Given the description of an element on the screen output the (x, y) to click on. 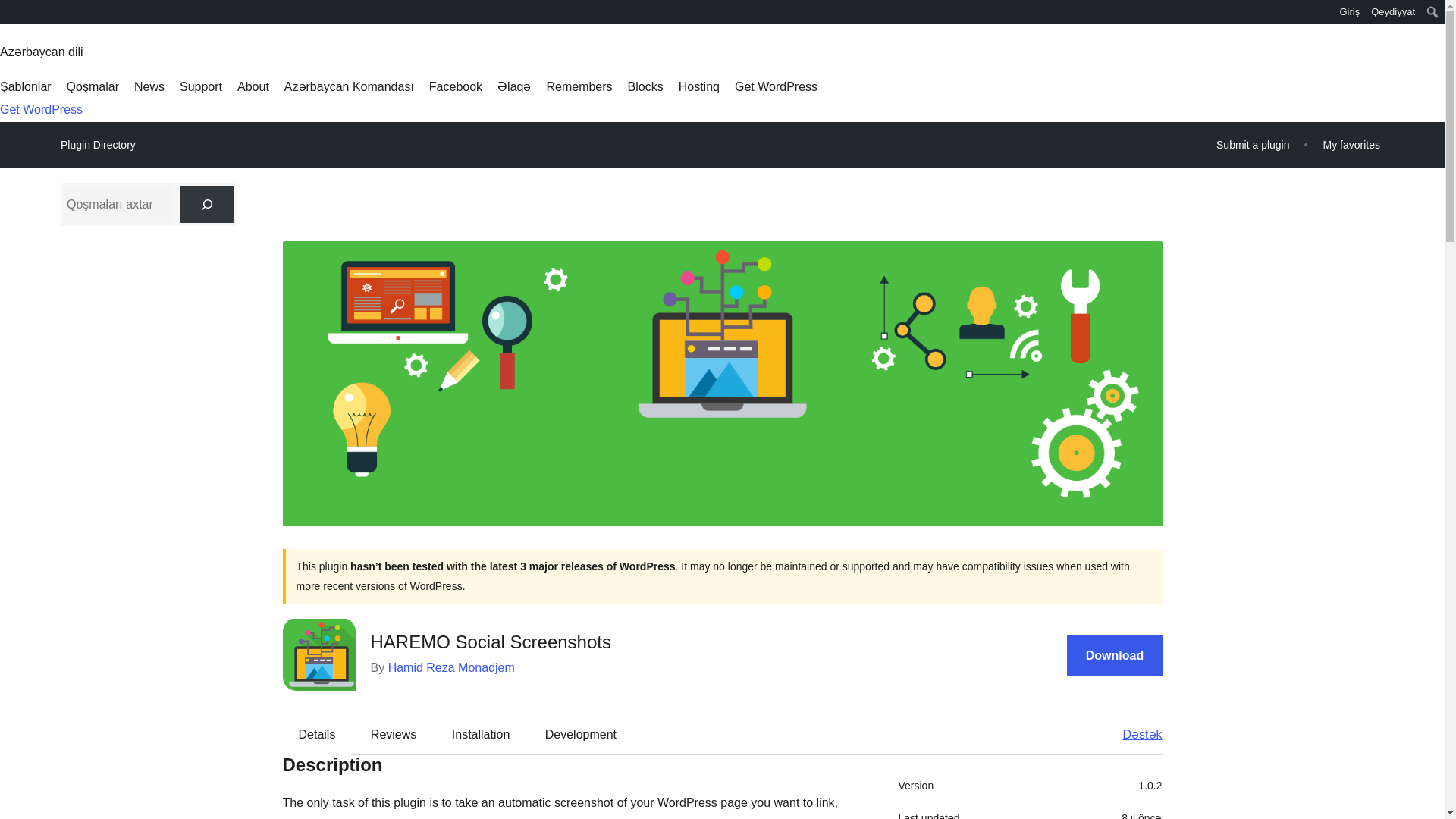
Remembers (578, 87)
Development (580, 733)
Get WordPress (41, 109)
Installation (480, 733)
Support (200, 87)
Submit a plugin (1253, 144)
Hostinq (698, 87)
Axtar (13, 13)
News (148, 87)
About (253, 87)
